Given the description of an element on the screen output the (x, y) to click on. 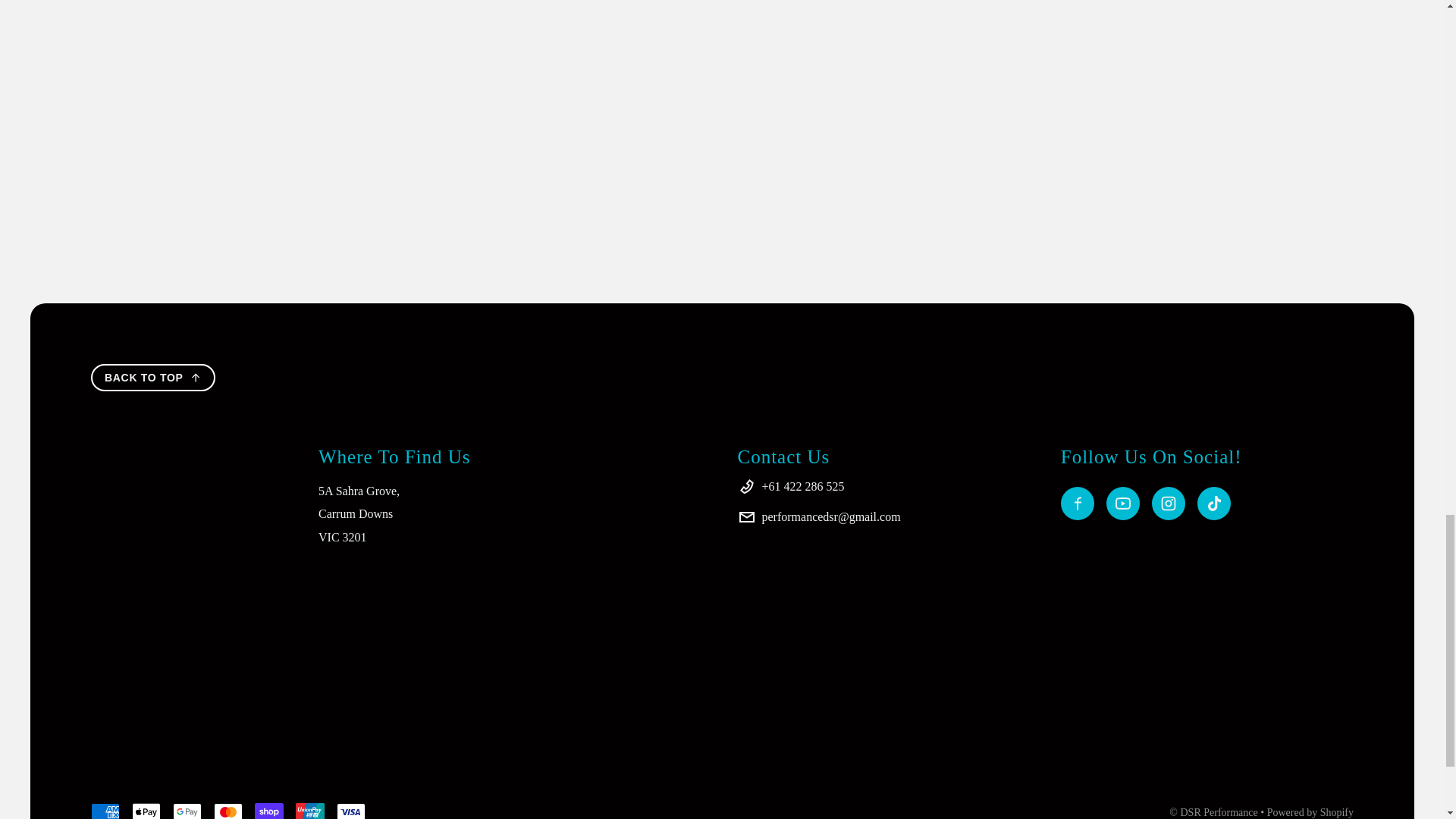
Youtube (1123, 503)
Tiktok (1213, 503)
Instagram (1168, 503)
DSR Performance (1218, 812)
BACK TO TOP (152, 377)
Powered by Shopify (1310, 812)
